Given the description of an element on the screen output the (x, y) to click on. 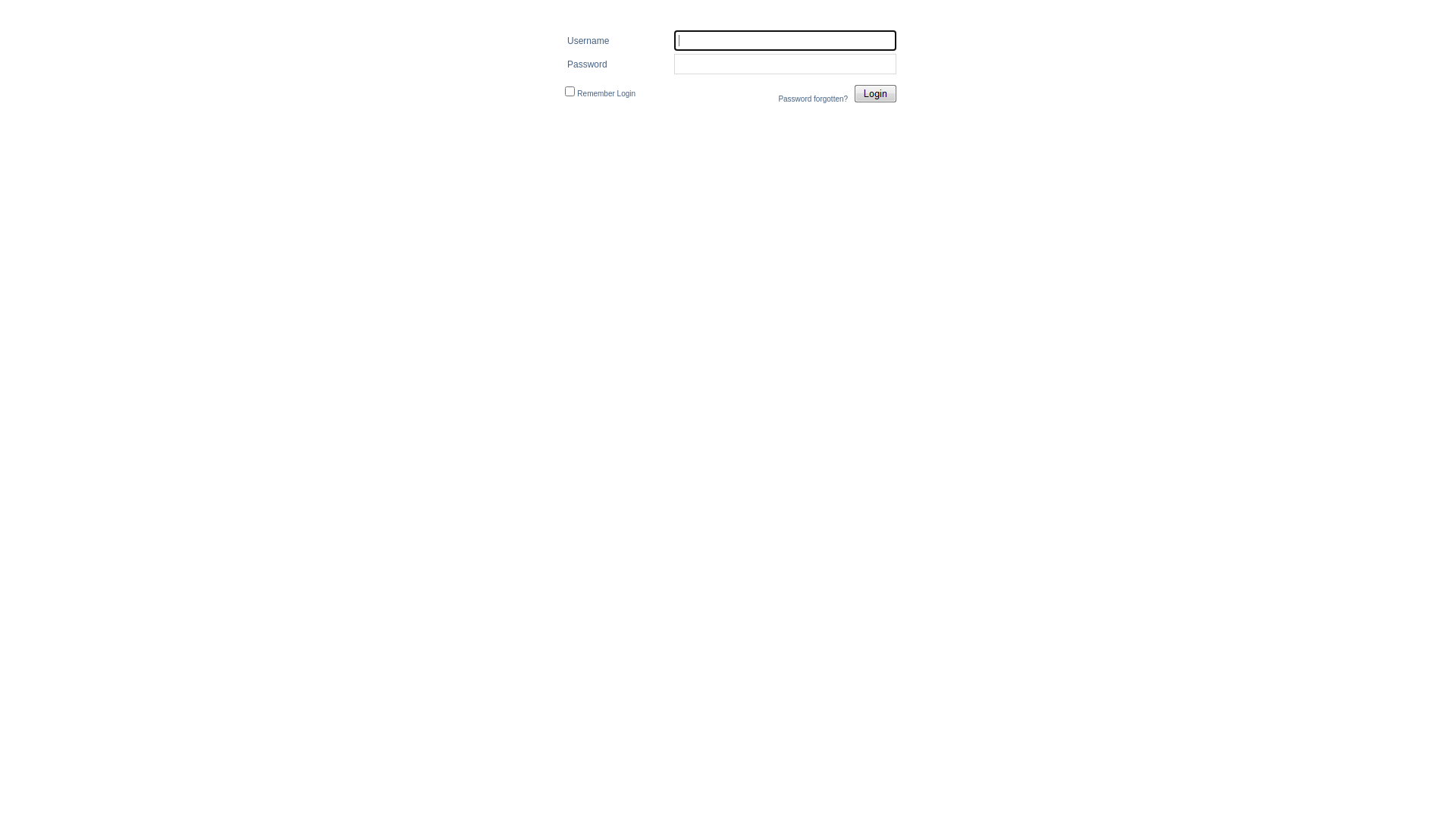
Password forgotten? Element type: text (812, 98)
